Given the description of an element on the screen output the (x, y) to click on. 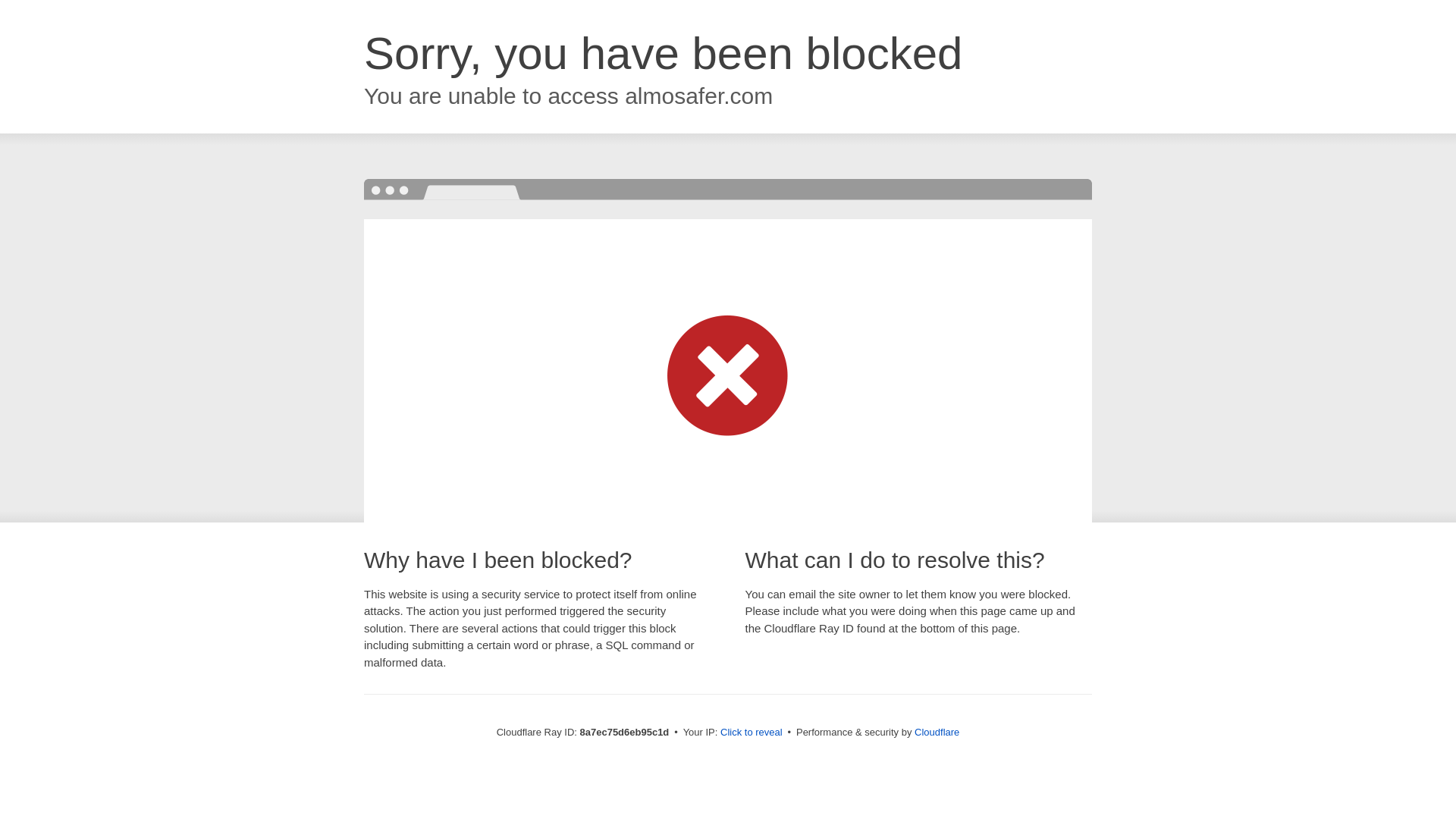
Cloudflare (936, 731)
Click to reveal (751, 732)
